Given the description of an element on the screen output the (x, y) to click on. 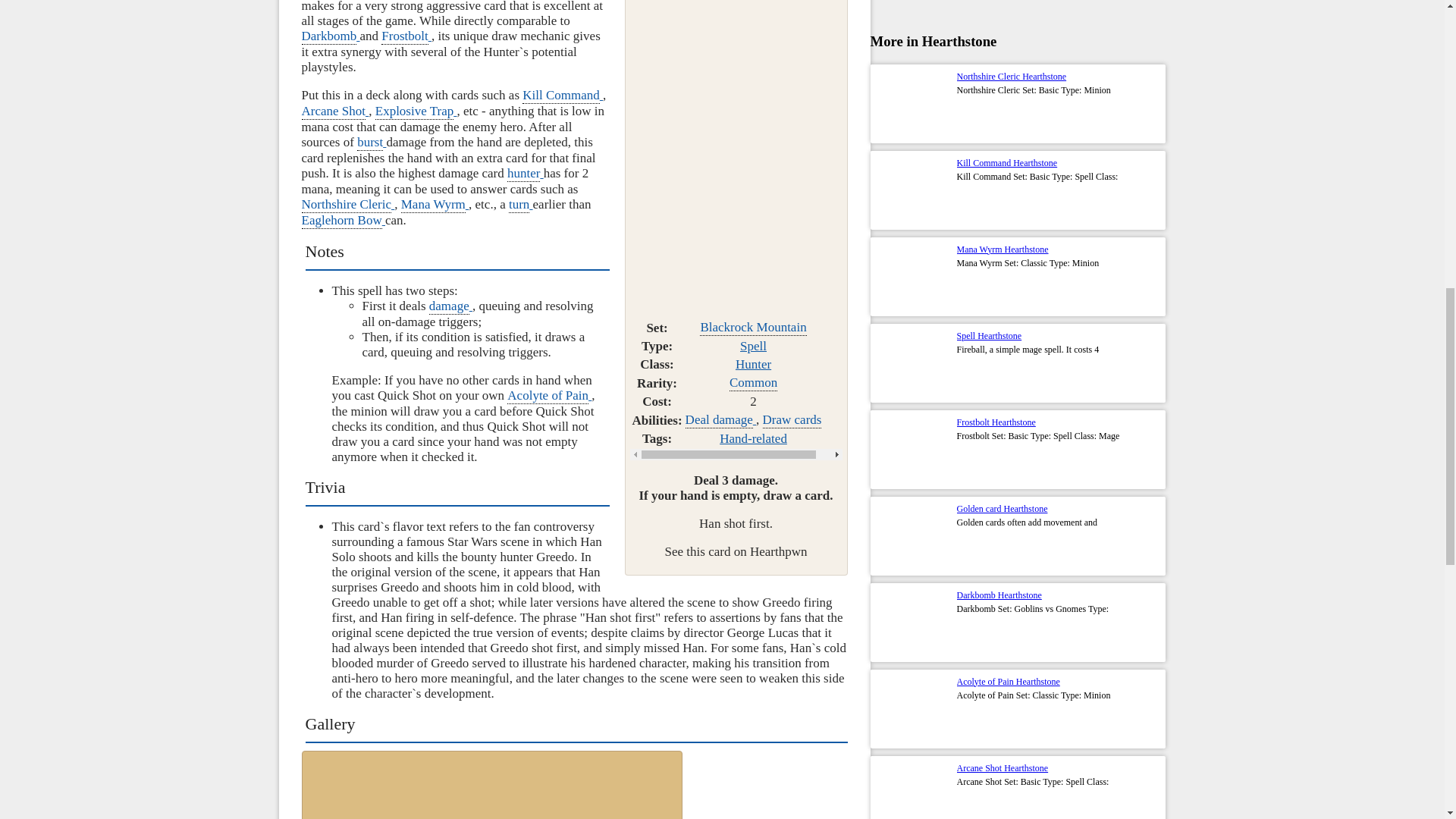
Explosive Trap (416, 110)
Arcane Shot (454, 119)
Draw cards (792, 419)
Darkbomb (330, 35)
Hunter (753, 364)
Deal damage (720, 419)
Deal damage (720, 419)
Blackrock Mountain (753, 327)
Rarity (753, 382)
Spell (753, 345)
